Given the description of an element on the screen output the (x, y) to click on. 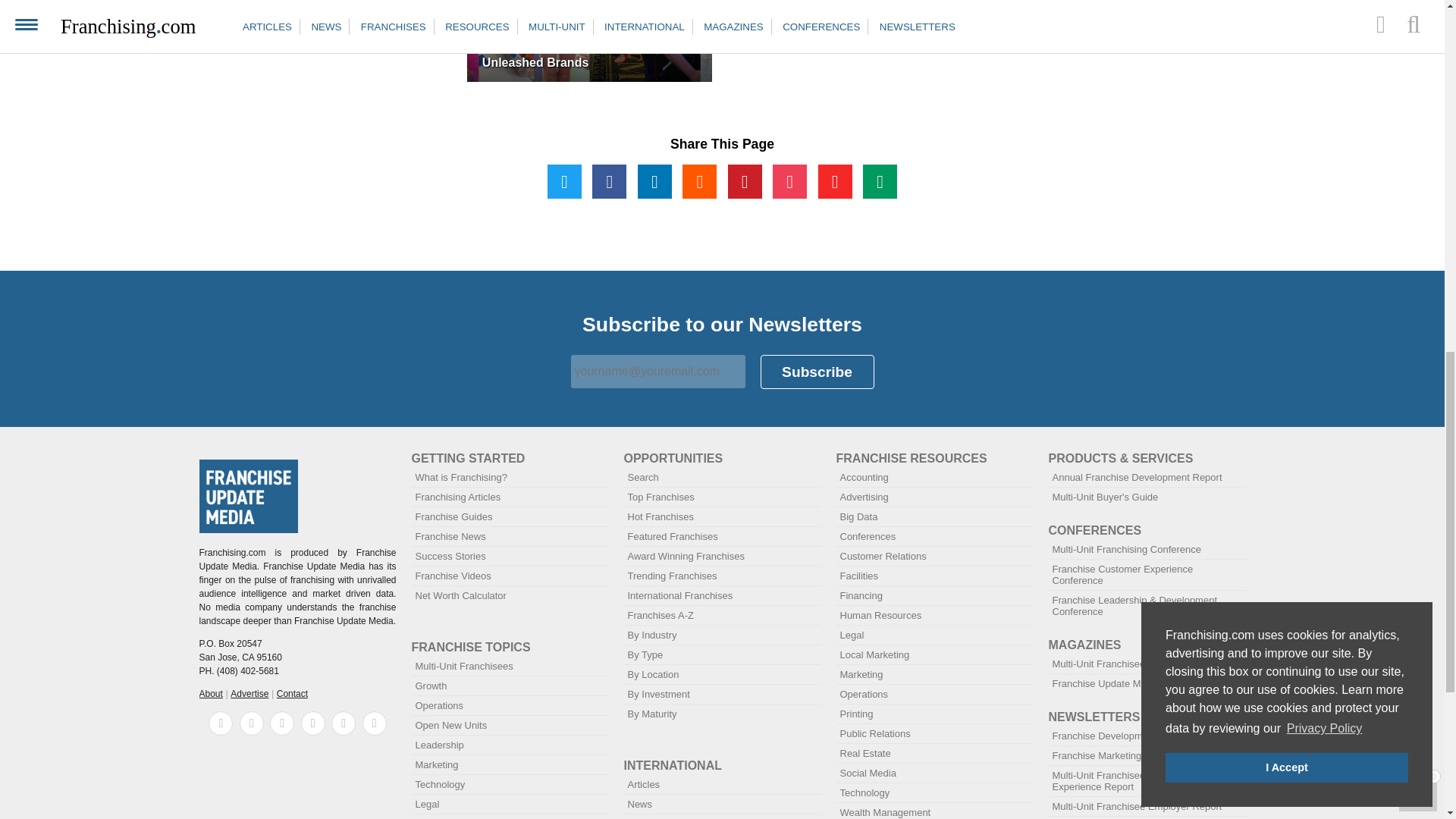
Subscribe (816, 371)
